Given the description of an element on the screen output the (x, y) to click on. 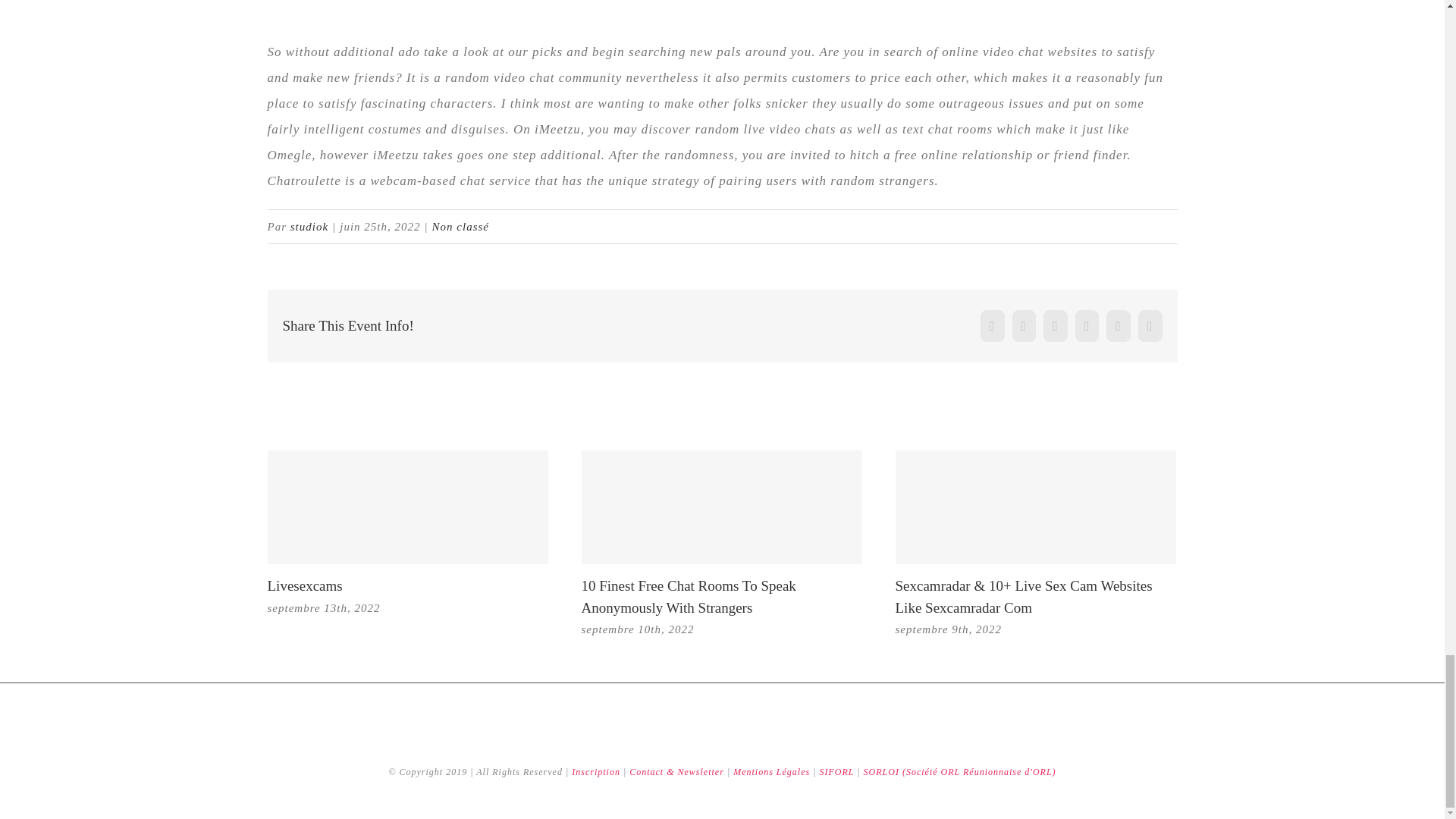
Articles par studiok (309, 226)
Reddit (1055, 326)
Livesexcams (304, 585)
Pinterest (1149, 326)
SIFORL (835, 771)
Facebook (991, 326)
WhatsApp (1118, 326)
studiok (309, 226)
Livesexcams (304, 585)
Inscription (597, 771)
Twitter (1023, 326)
LinkedIn (1087, 326)
